Given the description of an element on the screen output the (x, y) to click on. 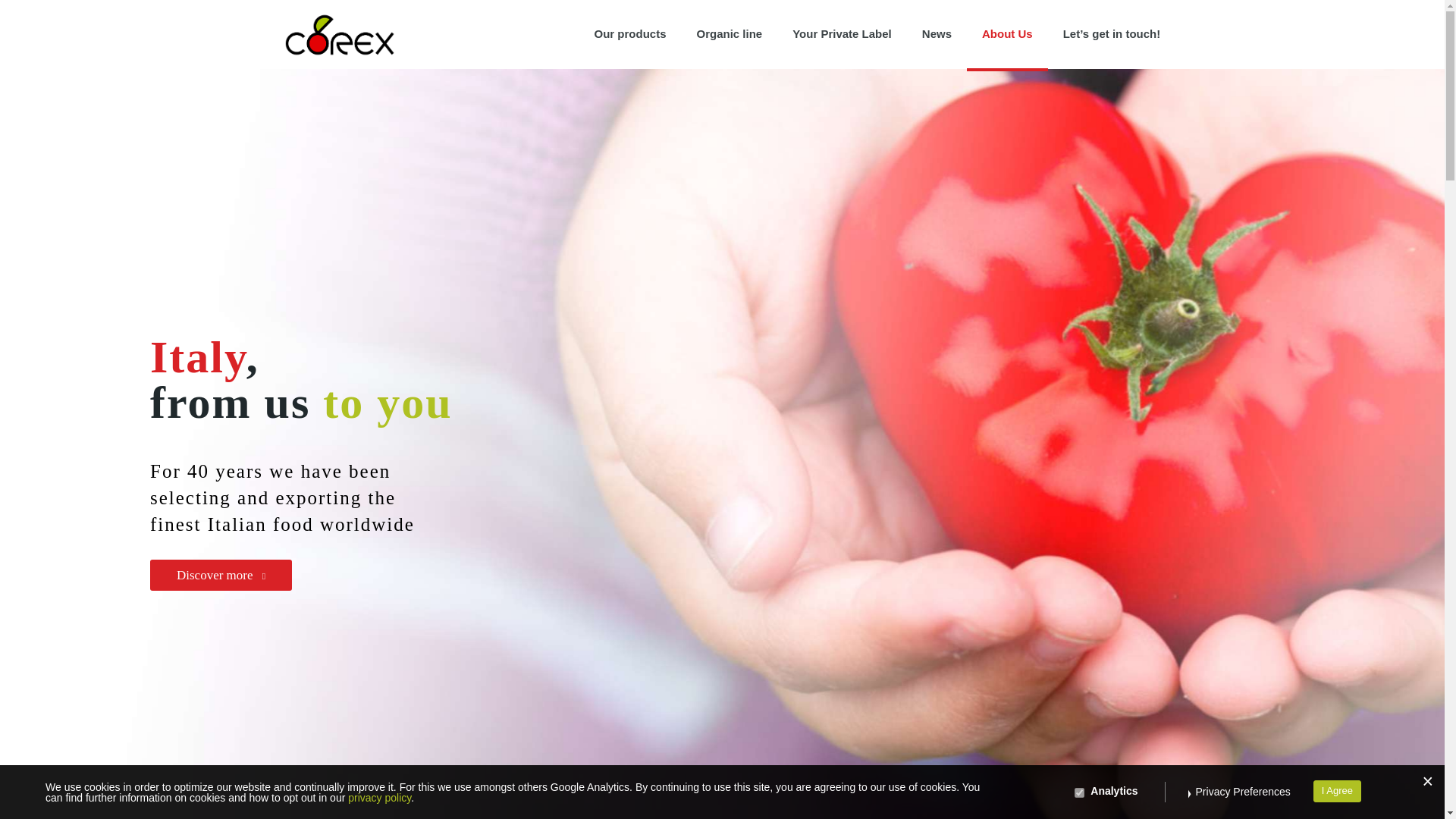
Organic line (729, 33)
Analytics (1079, 792)
About Us (1007, 33)
Our products (629, 33)
Your Private Label (842, 33)
